Given the description of an element on the screen output the (x, y) to click on. 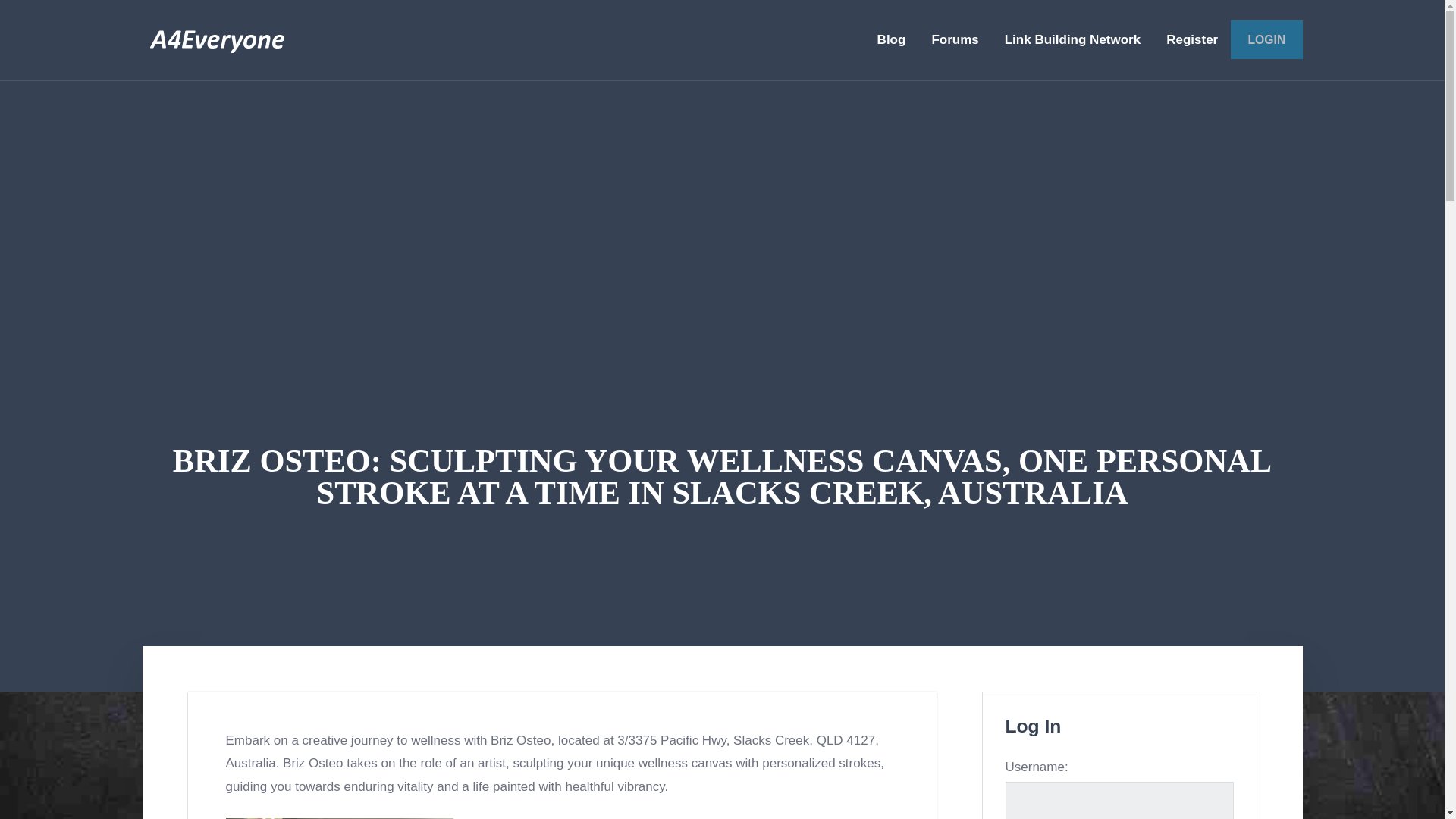
Link Building Network (1072, 40)
Forums (954, 40)
LOGIN (1265, 39)
Register (1191, 40)
